Given the description of an element on the screen output the (x, y) to click on. 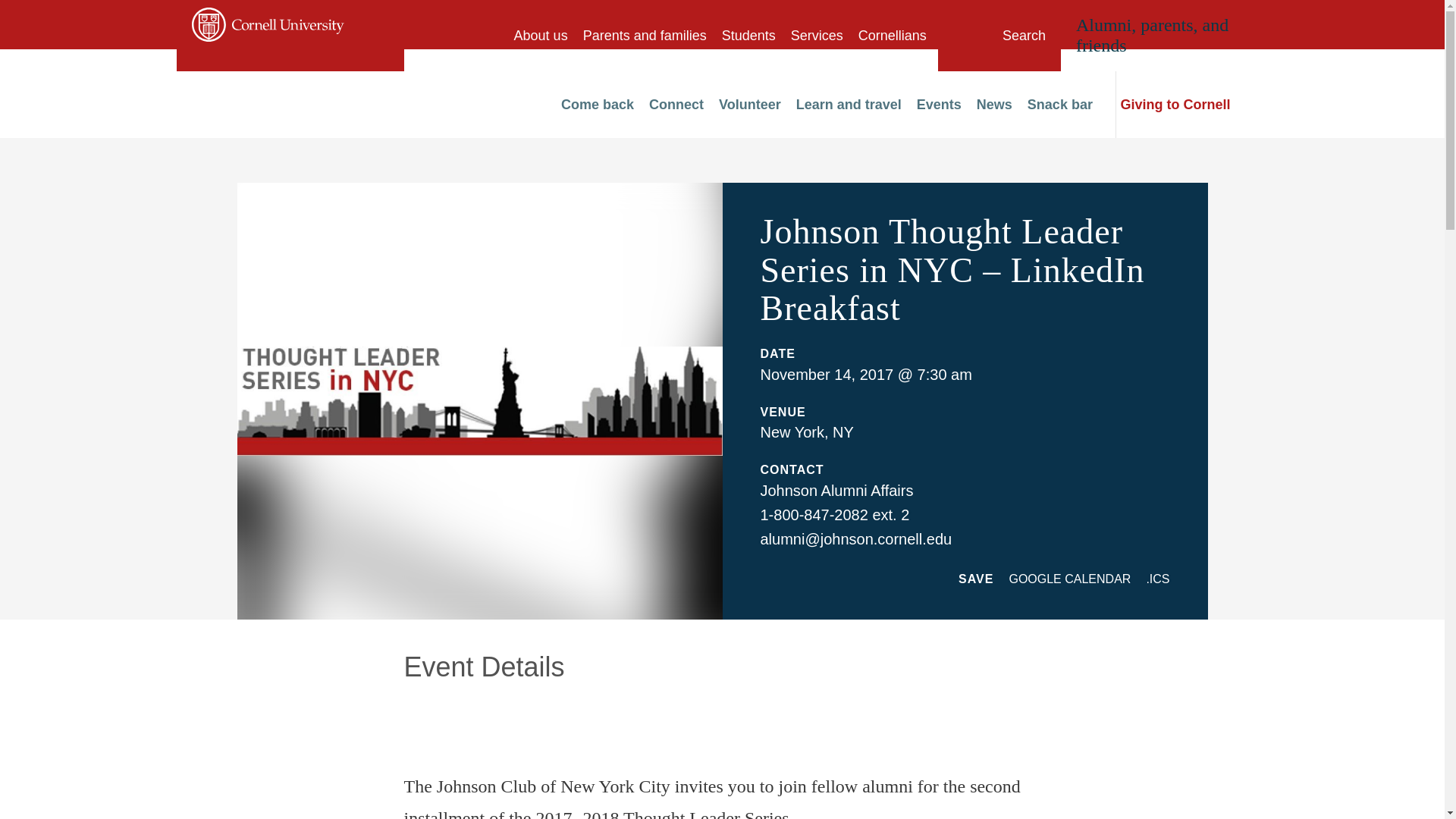
Come back (596, 105)
.ICS (1157, 578)
Parents and families (644, 34)
Cornellians (892, 34)
Giving to Cornell (1178, 104)
Snack bar (1060, 105)
Events (938, 105)
News (993, 105)
Alumni, parents, and friends (1151, 35)
GOOGLE CALENDAR (1070, 578)
Connect (676, 105)
Volunteer (749, 105)
Students (749, 34)
Services (816, 34)
1-800-847-2082 ext. 2 (834, 514)
